Given the description of an element on the screen output the (x, y) to click on. 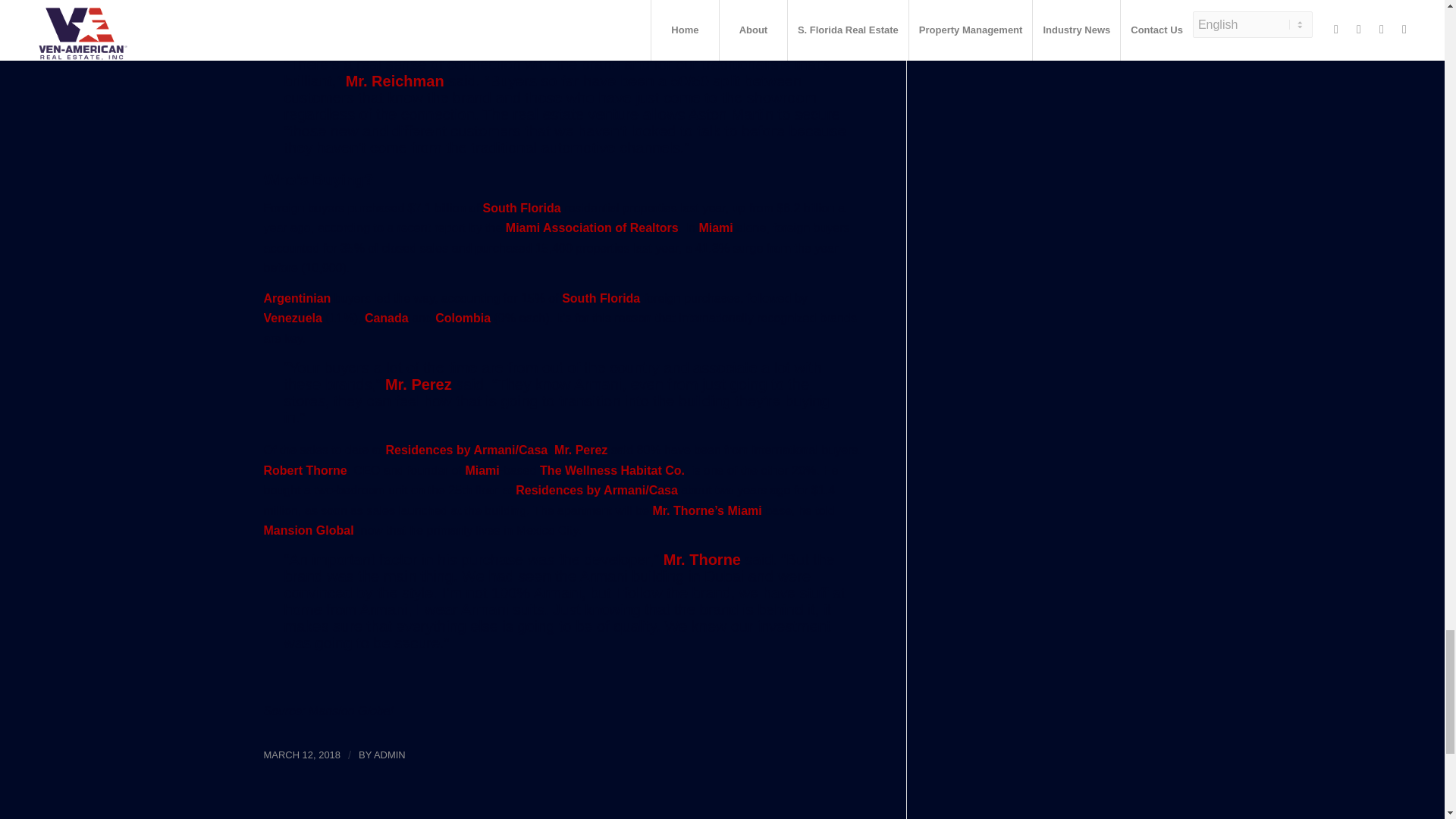
Posts by ADMIN (390, 754)
Mansion Global (350, 710)
ADMIN (390, 754)
